Given the description of an element on the screen output the (x, y) to click on. 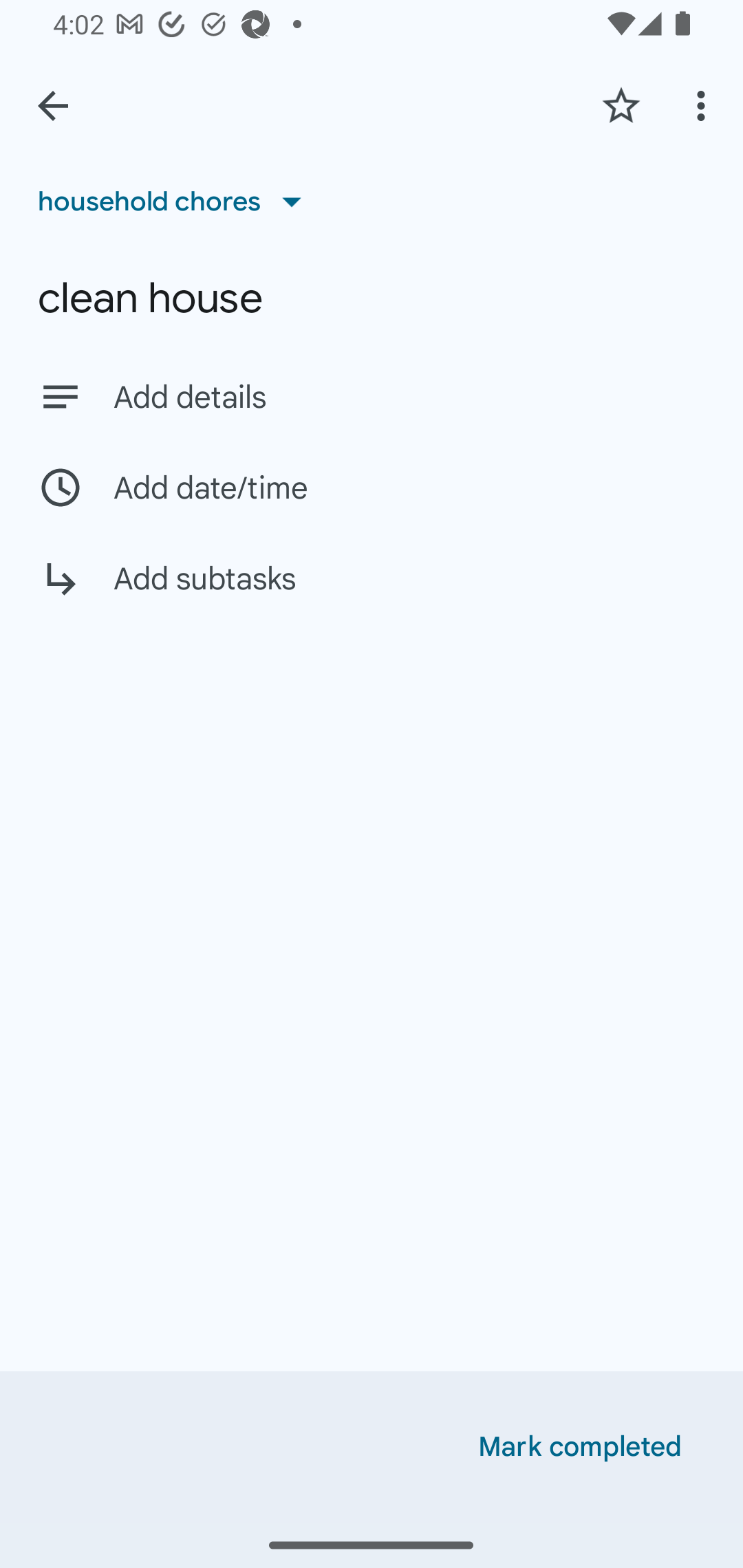
Back (53, 105)
Add star (620, 105)
More options (704, 105)
clean house (371, 298)
Add details (371, 396)
Add details (409, 397)
Add date/time (371, 487)
Add subtasks (371, 593)
Mark completed (580, 1446)
